Given the description of an element on the screen output the (x, y) to click on. 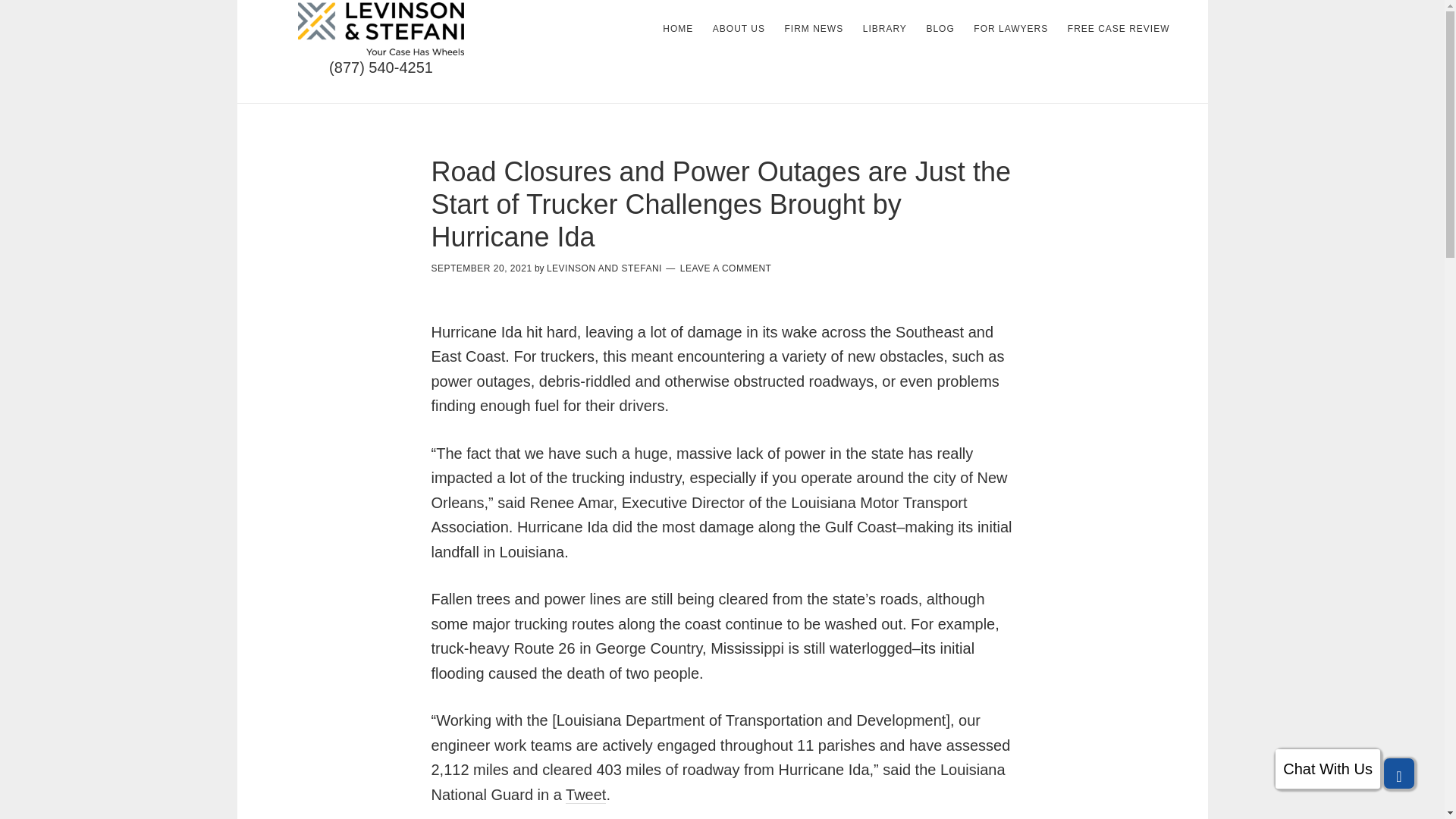
FIRM NEWS (813, 28)
FOR LAWYERS (1010, 28)
LEVINSON AND STEFANI (604, 267)
HOME (677, 28)
BLOG (939, 28)
LEVINSON AND STEFANI INJURY LAWYERS (380, 28)
ABOUT US (738, 28)
Tweet (585, 794)
LEAVE A COMMENT (725, 267)
FREE CASE REVIEW (1118, 28)
LIBRARY (885, 28)
